Given the description of an element on the screen output the (x, y) to click on. 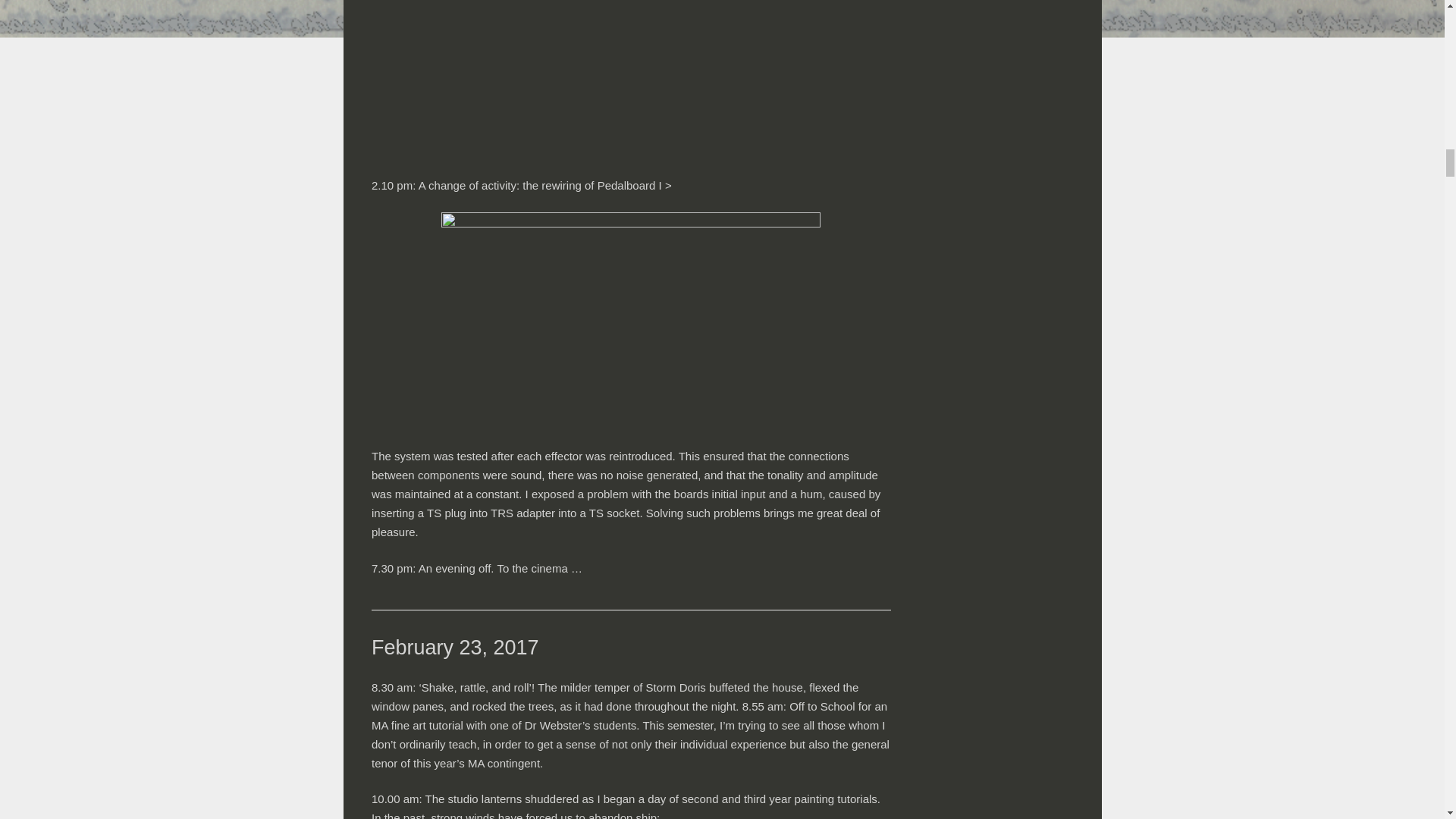
February 23, 2017 (454, 647)
